Given the description of an element on the screen output the (x, y) to click on. 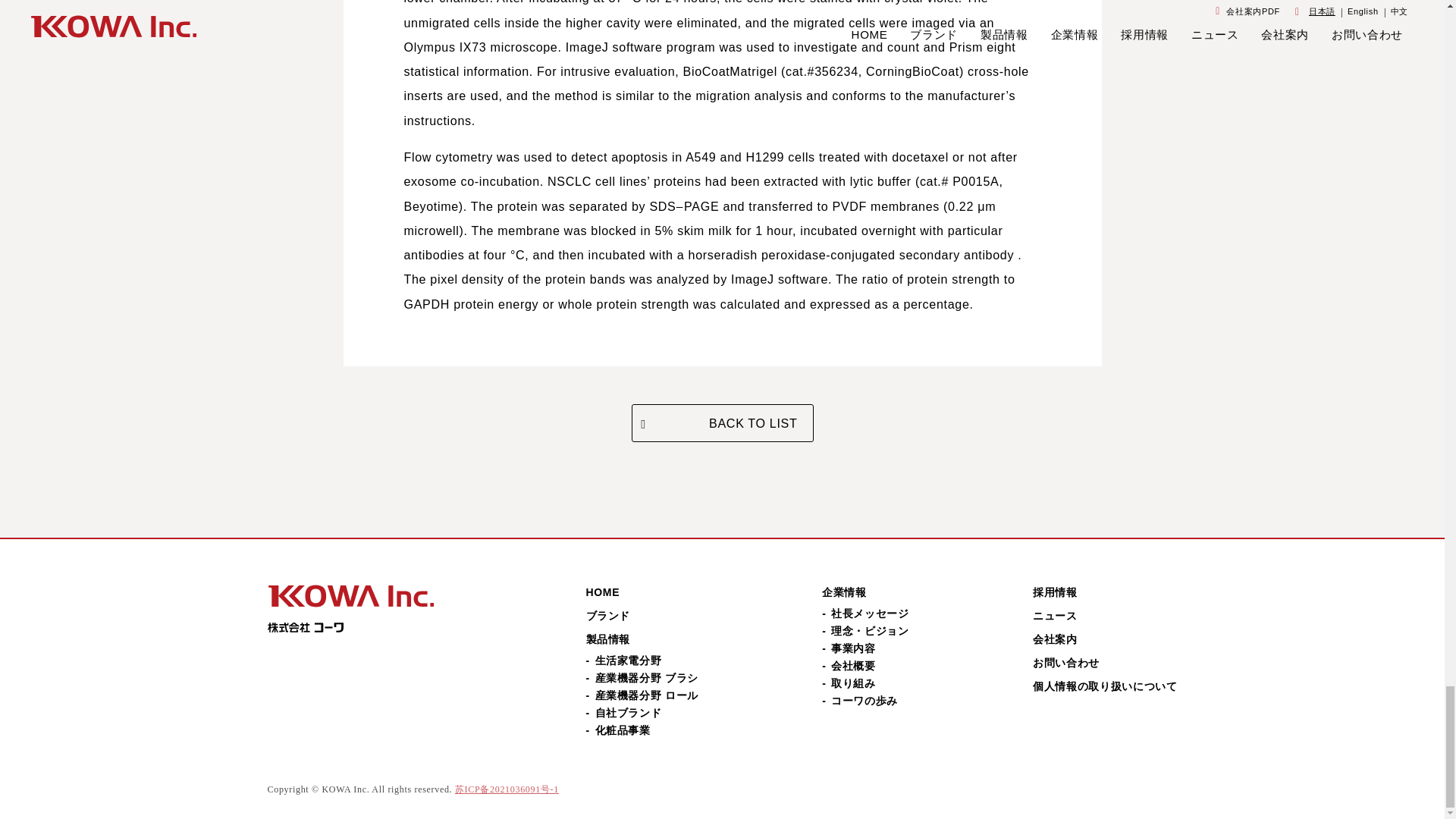
BACK TO LIST (721, 423)
HOME (602, 592)
